Given the description of an element on the screen output the (x, y) to click on. 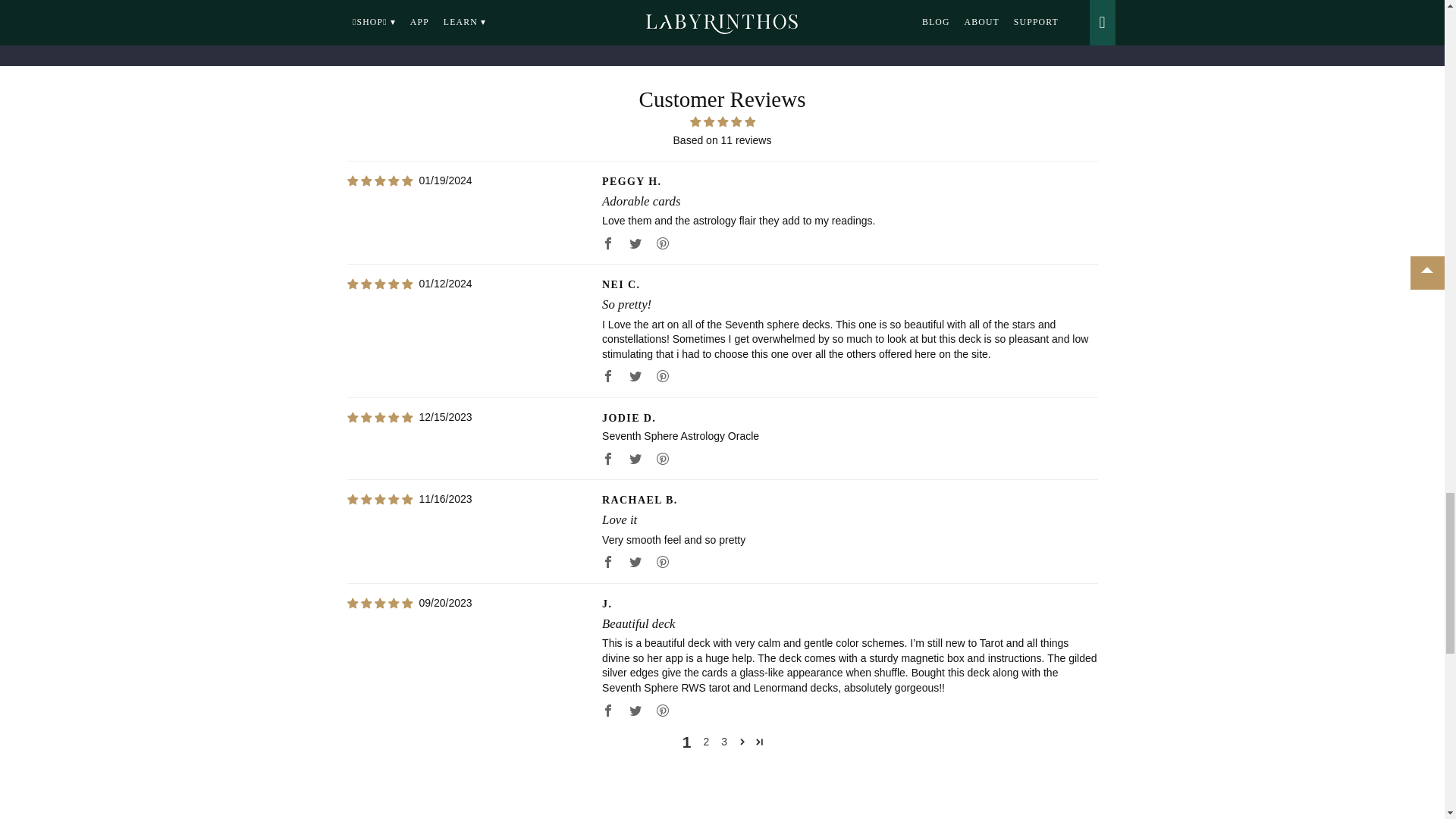
Facebook (607, 242)
Twitter (635, 710)
Pinterest (662, 710)
Facebook (607, 458)
Pinterest (662, 458)
Facebook (607, 375)
Pinterest (662, 561)
Twitter (635, 242)
Twitter (635, 561)
Pinterest (662, 242)
Twitter (635, 458)
Facebook (607, 561)
Twitter (635, 375)
Facebook (607, 710)
Pinterest (662, 375)
